Given the description of an element on the screen output the (x, y) to click on. 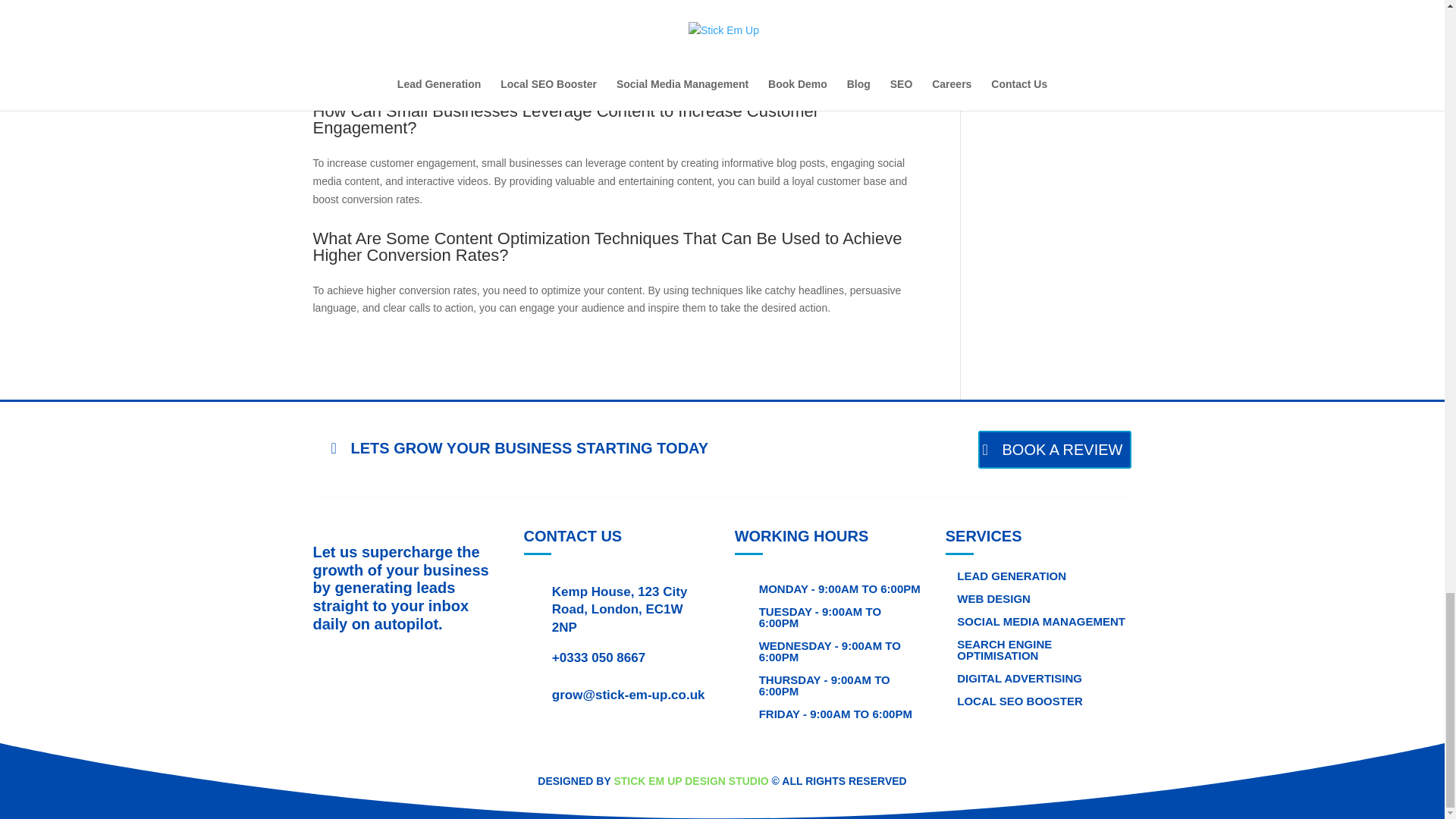
BOOK A REVIEW (1055, 449)
LETS GROW YOUR BUSINESS STARTING TODAY (519, 448)
STICK EM UP DESIGN STUDIO (690, 780)
